Given the description of an element on the screen output the (x, y) to click on. 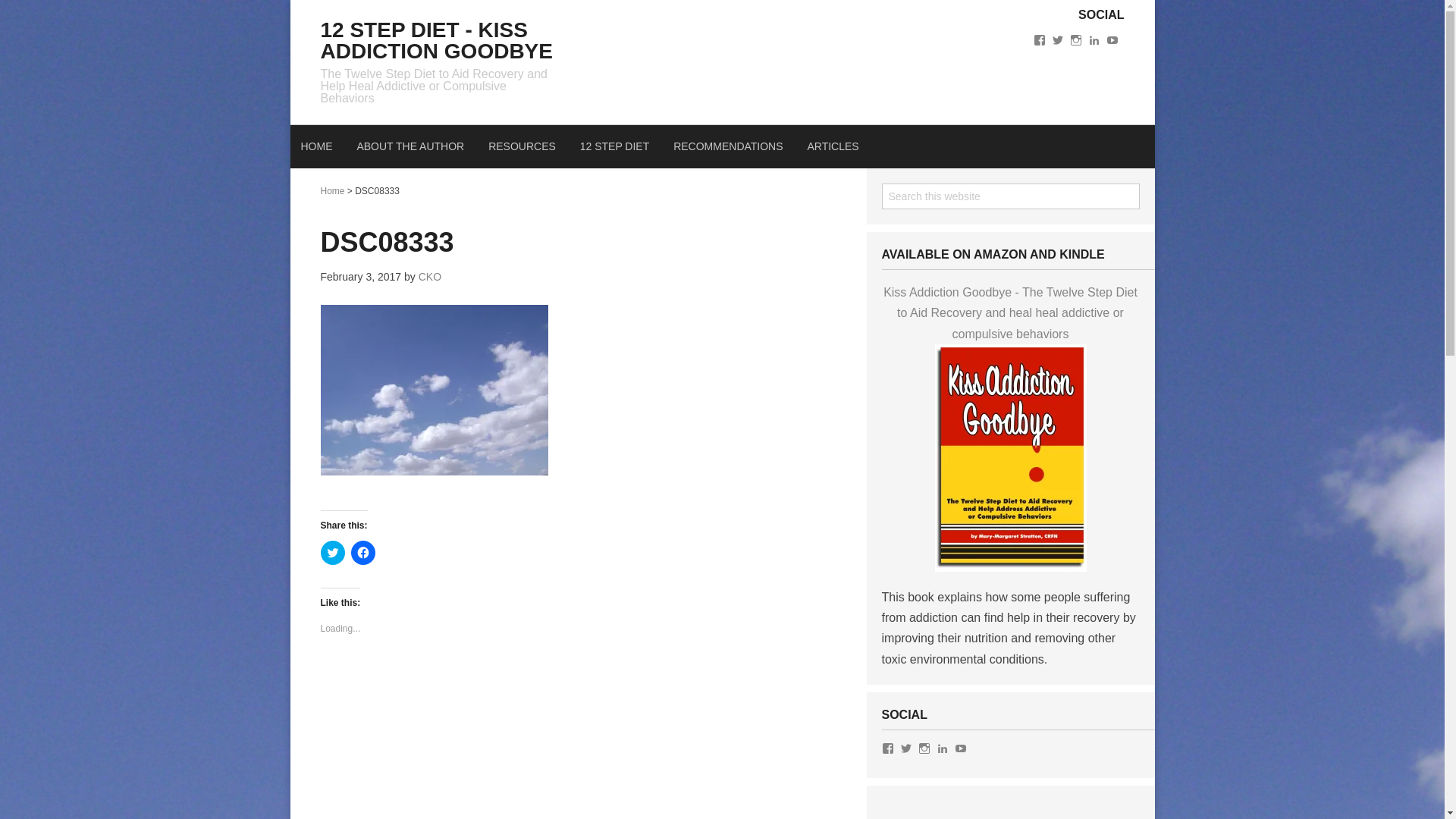
ABOUT THE AUTHOR Element type: text (409, 146)
Home Element type: text (332, 190)
CKO Element type: text (429, 276)
RECOMMENDATIONS Element type: text (727, 146)
HOME Element type: text (315, 146)
RESOURCES Element type: text (521, 146)
12 STEP DIET - KISS ADDICTION GOODBYE Element type: text (436, 40)
Search Element type: text (1139, 182)
ARTICLES Element type: text (832, 146)
Click to share on Facebook (Opens in new window) Element type: text (362, 552)
Like or Reblog Element type: hover (577, 679)
Click to share on Twitter (Opens in new window) Element type: text (332, 552)
12 STEP DIET Element type: text (614, 146)
